Given the description of an element on the screen output the (x, y) to click on. 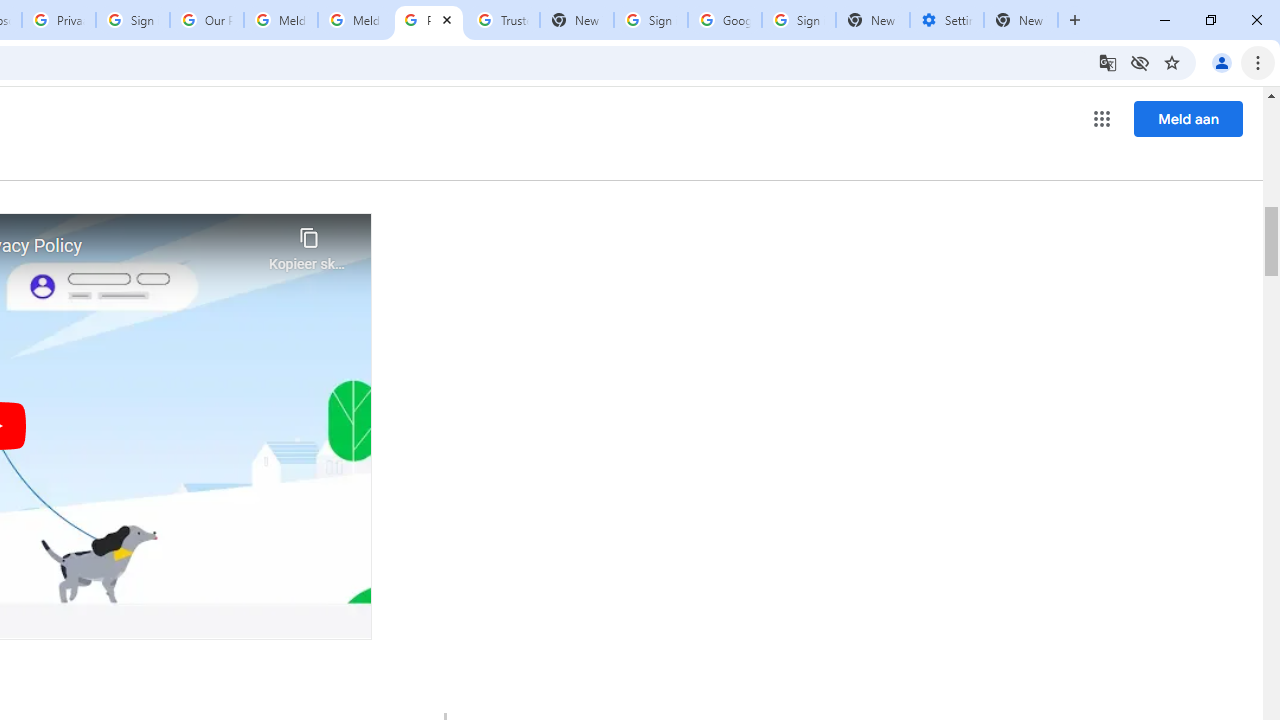
Sign in - Google Accounts (651, 20)
Google Cybersecurity Innovations - Google Safety Center (724, 20)
Translate this page (1107, 62)
Google-programme (1101, 118)
Meld aan (1188, 118)
Sign in - Google Accounts (798, 20)
